Given the description of an element on the screen output the (x, y) to click on. 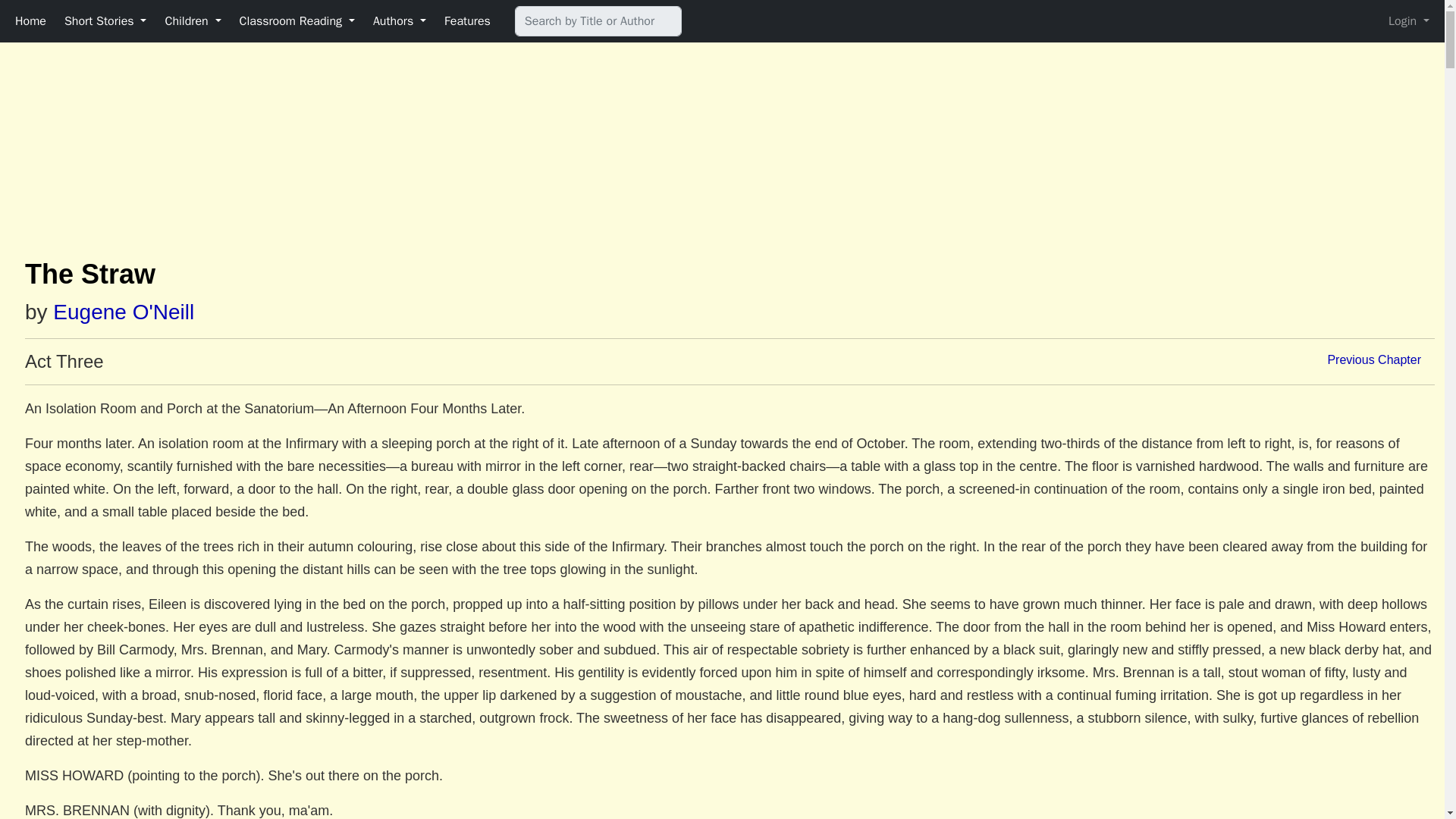
Short Stories (105, 20)
Children (192, 20)
Home (30, 20)
